Given the description of an element on the screen output the (x, y) to click on. 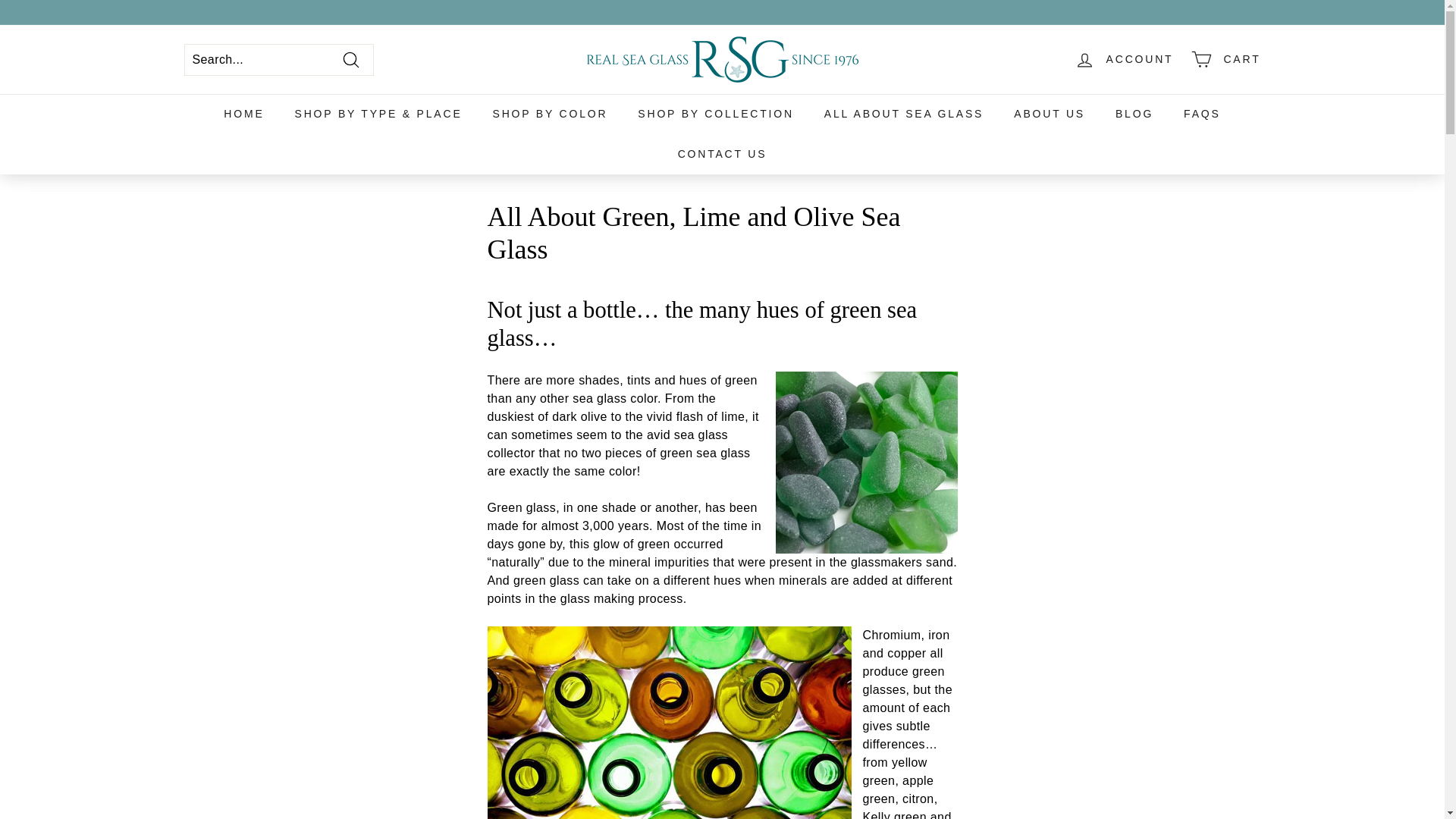
HOME (243, 114)
SHOP BY COLOR (550, 114)
ACCOUNT (1123, 58)
